Given the description of an element on the screen output the (x, y) to click on. 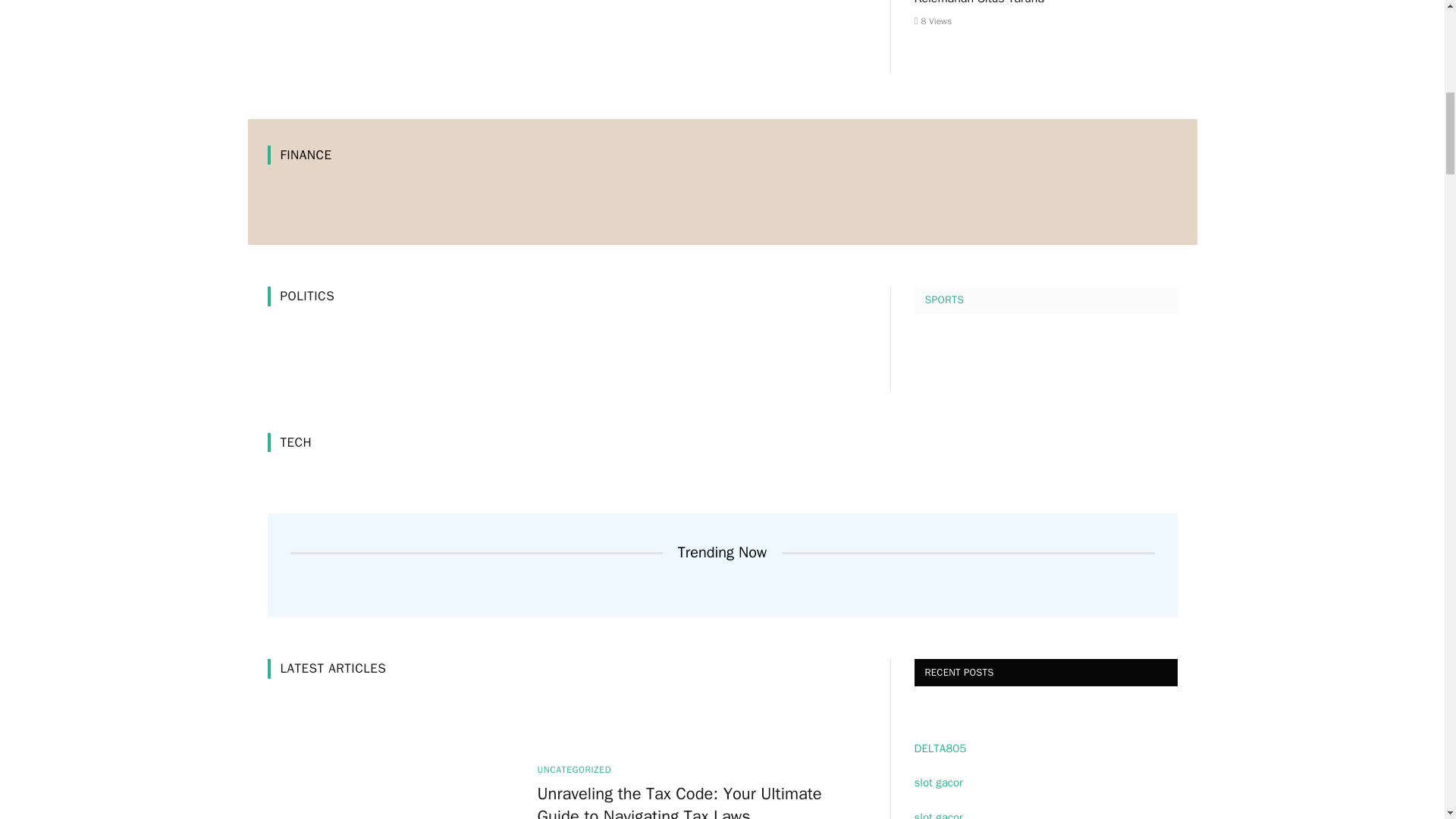
UNCATEGORIZED (574, 769)
8 Article Views (933, 21)
